Given the description of an element on the screen output the (x, y) to click on. 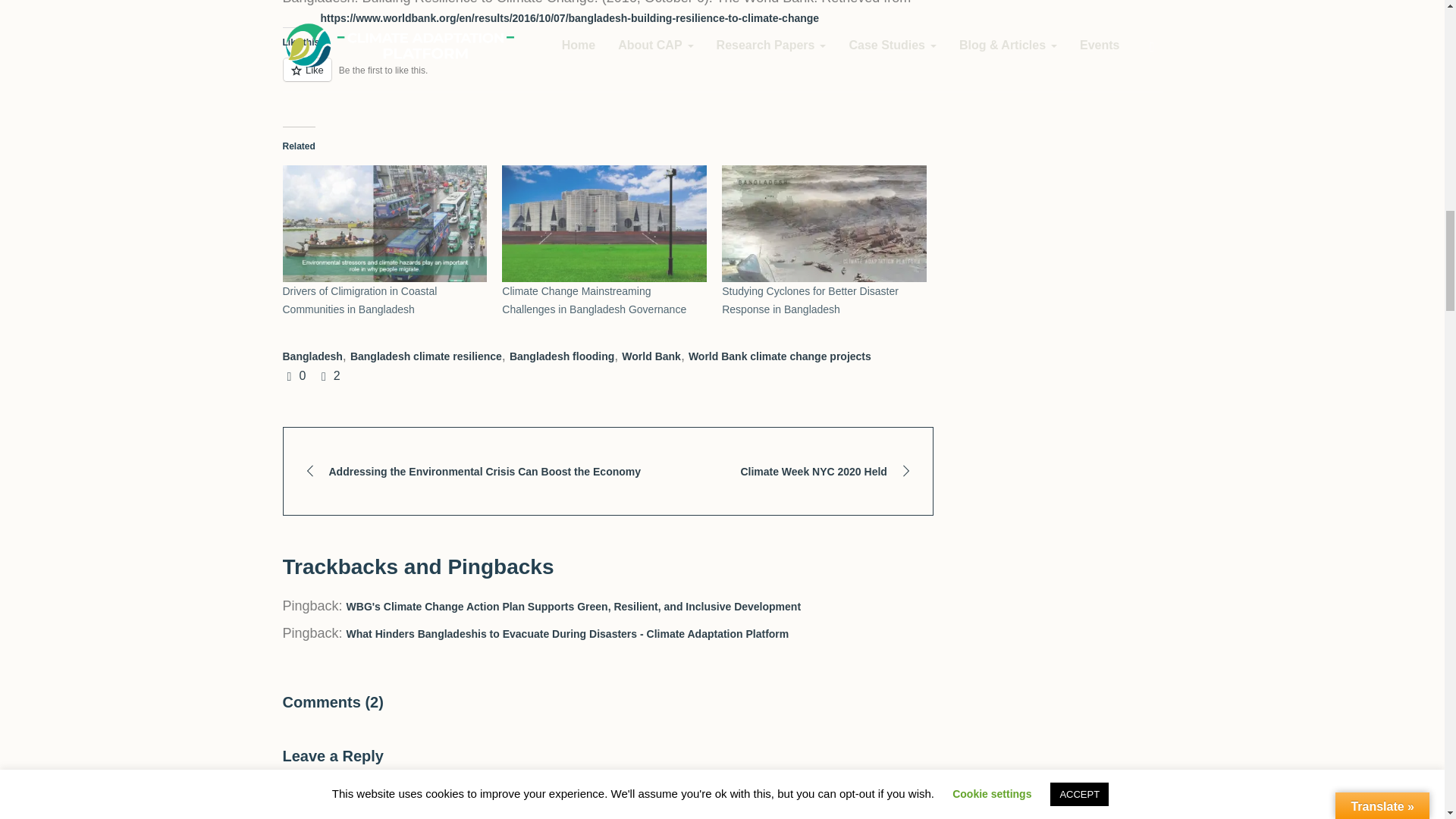
Drivers of Climigration in Coastal Communities in Bangladesh (359, 300)
Like or Reblog (607, 78)
Drivers of Climigration in Coastal Communities in Bangladesh (384, 223)
